Given the description of an element on the screen output the (x, y) to click on. 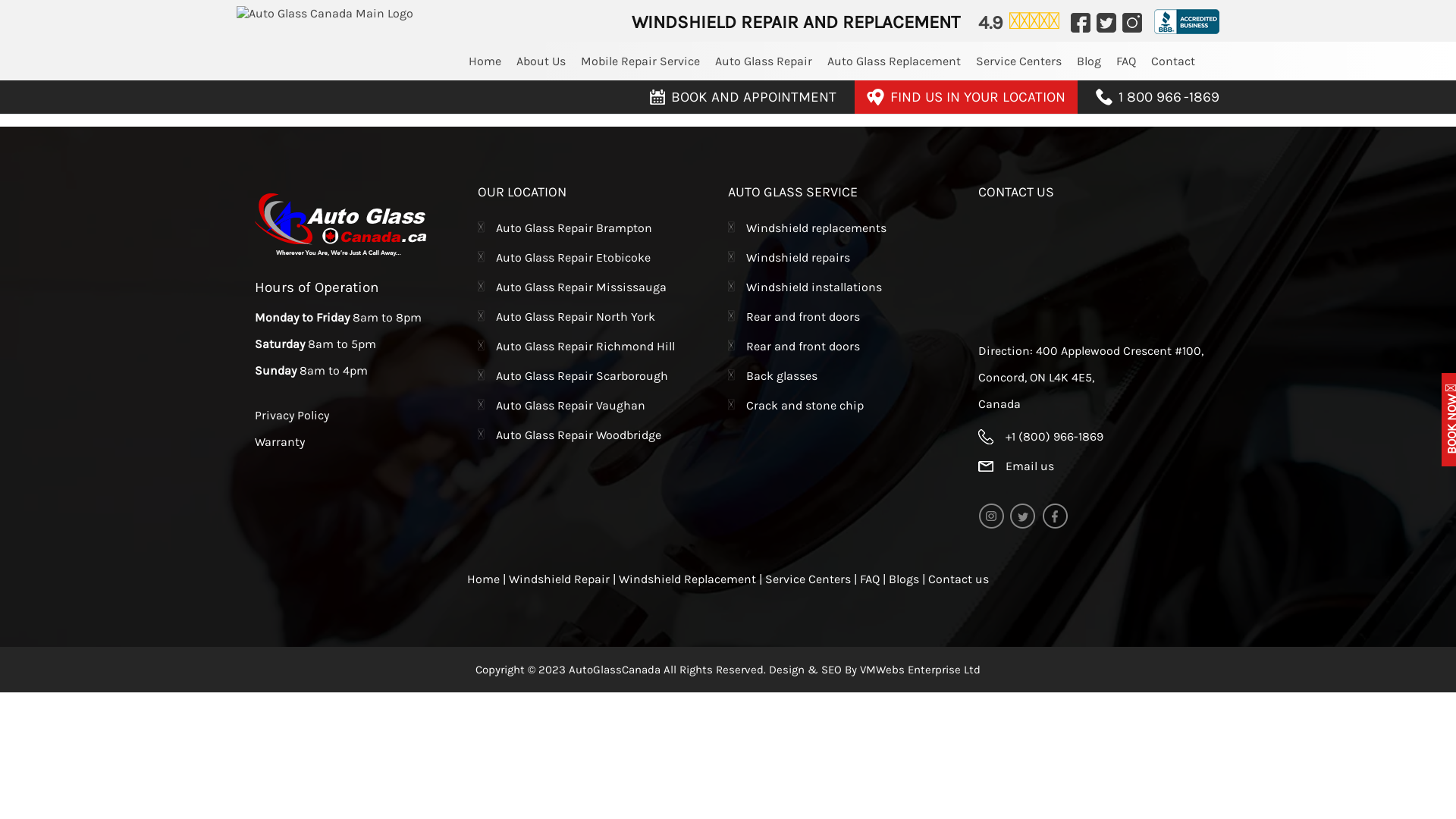
1 800 966-1869 Element type: text (1157, 96)
FAQ Element type: text (870, 578)
FIND US IN YOUR LOCATION Element type: text (965, 96)
+1 (800) 966-1869 Element type: text (1098, 433)
Auto Glass Canada Footer Logo Mobile Element type: hover (341, 225)
Auto Glass/windshield Repair Vaughan Element type: hover (324, 13)
Privacy Policy Element type: text (291, 414)
Contact Element type: text (1173, 60)
Email us Element type: text (1098, 464)
Contact us Element type: text (958, 578)
Warranty Element type: text (279, 441)
About Us Element type: text (540, 60)
Blogs Element type: text (903, 578)
Windshield Replacement Element type: text (688, 578)
FAQ Element type: text (1125, 60)
BOOK AND APPOINTMENT Element type: text (742, 96)
Service Centers Element type: text (809, 578)
Service Centers Element type: text (1018, 60)
Home Element type: text (484, 60)
400 Applewood Crescent #100, Concord, ON L4K 4E5,
Canada Element type: text (1090, 377)
Windshield Repair Element type: text (560, 578)
Mobile Repair Service Element type: text (639, 60)
Blog Element type: text (1088, 60)
Home Element type: text (484, 578)
Auto Glass Replacement Element type: text (893, 60)
Auto Glass Repair Element type: text (763, 60)
